Given the description of an element on the screen output the (x, y) to click on. 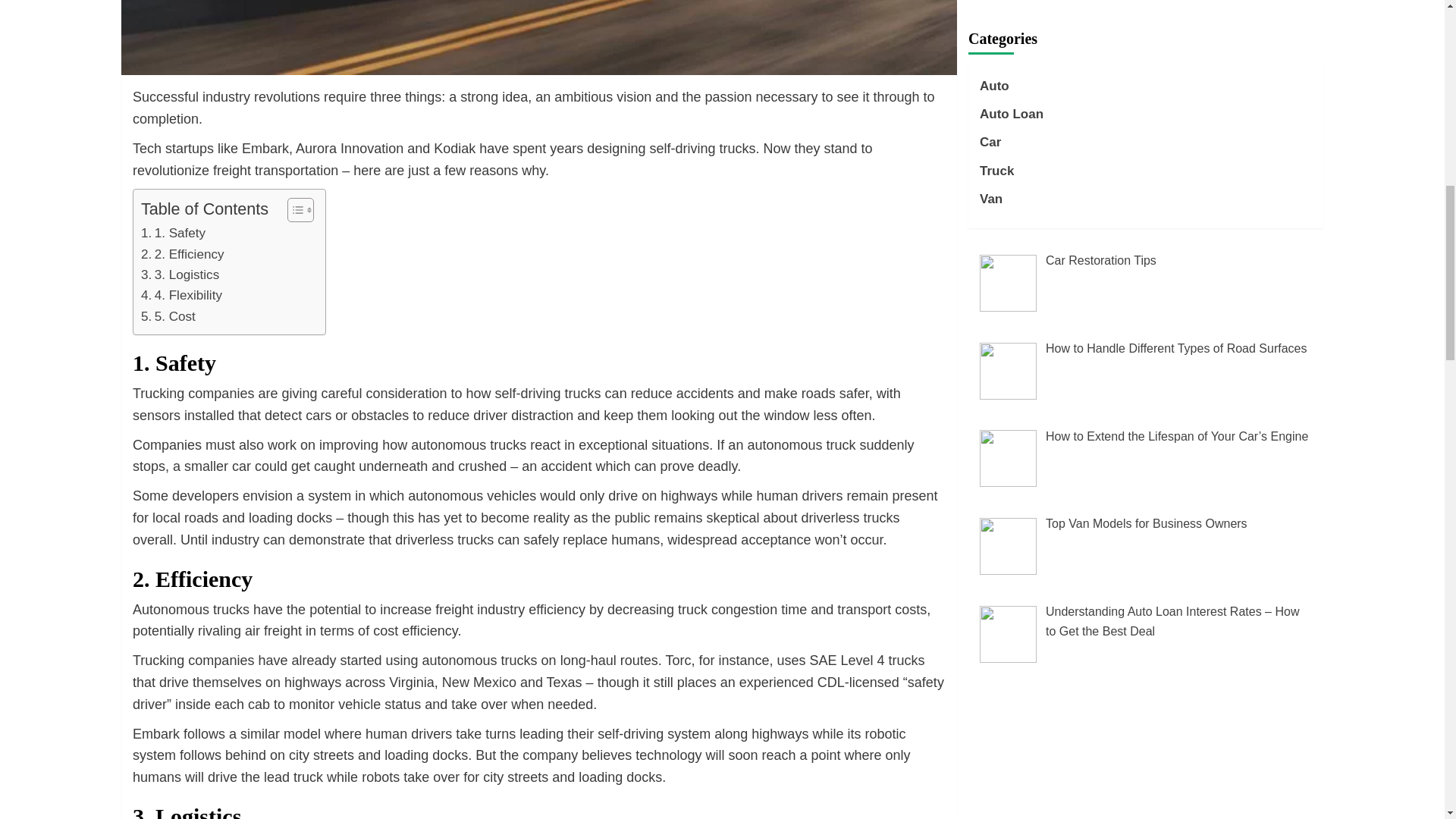
3. Logistics (180, 274)
5. Cost (168, 316)
1. Safety (173, 232)
4. Flexibility (181, 295)
1. Safety (173, 232)
3. Logistics (180, 274)
5. Cost (168, 316)
2. Efficiency (182, 254)
2. Efficiency (182, 254)
4. Flexibility (181, 295)
